Given the description of an element on the screen output the (x, y) to click on. 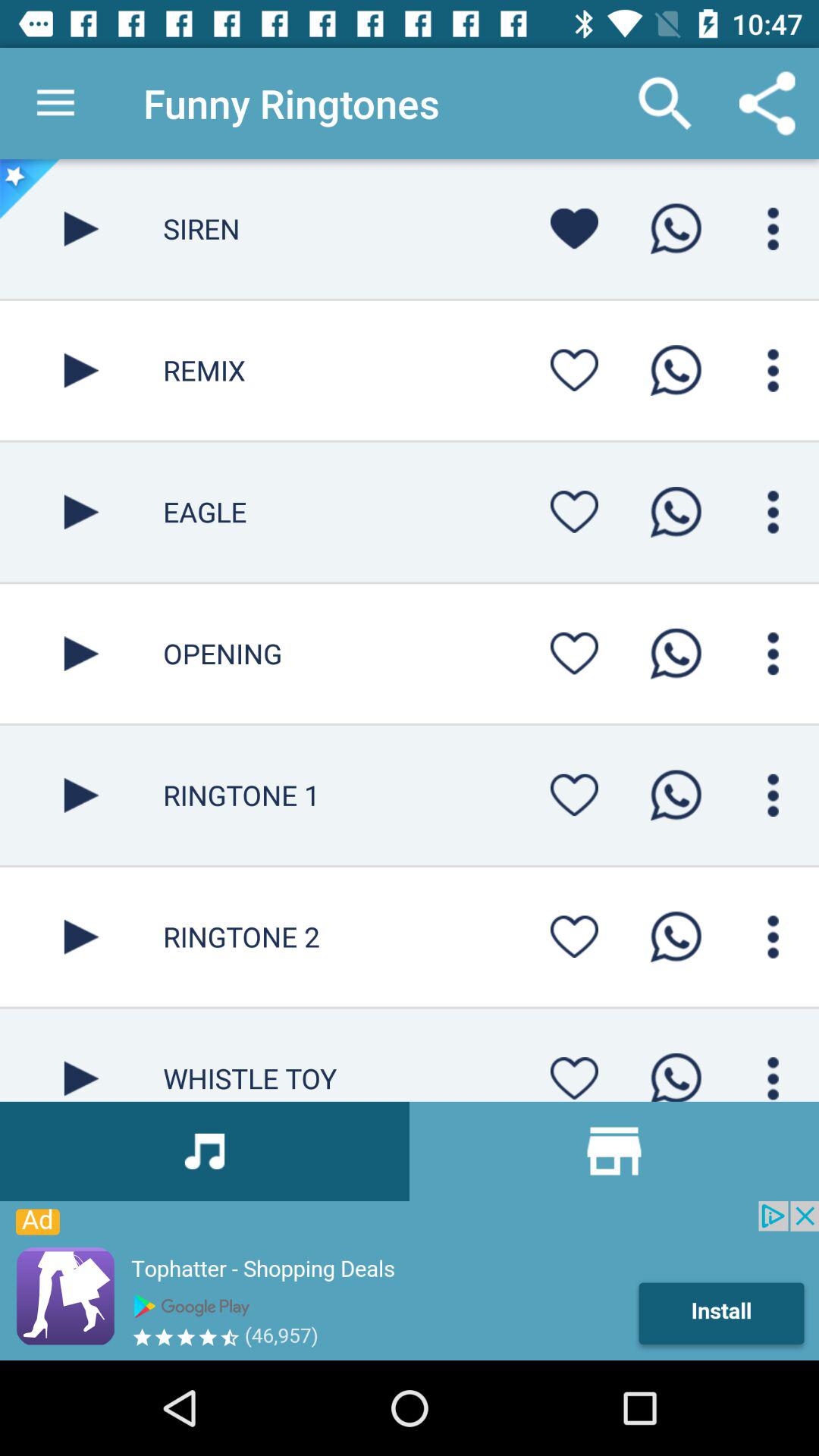
ringtone play simpal (81, 936)
